Given the description of an element on the screen output the (x, y) to click on. 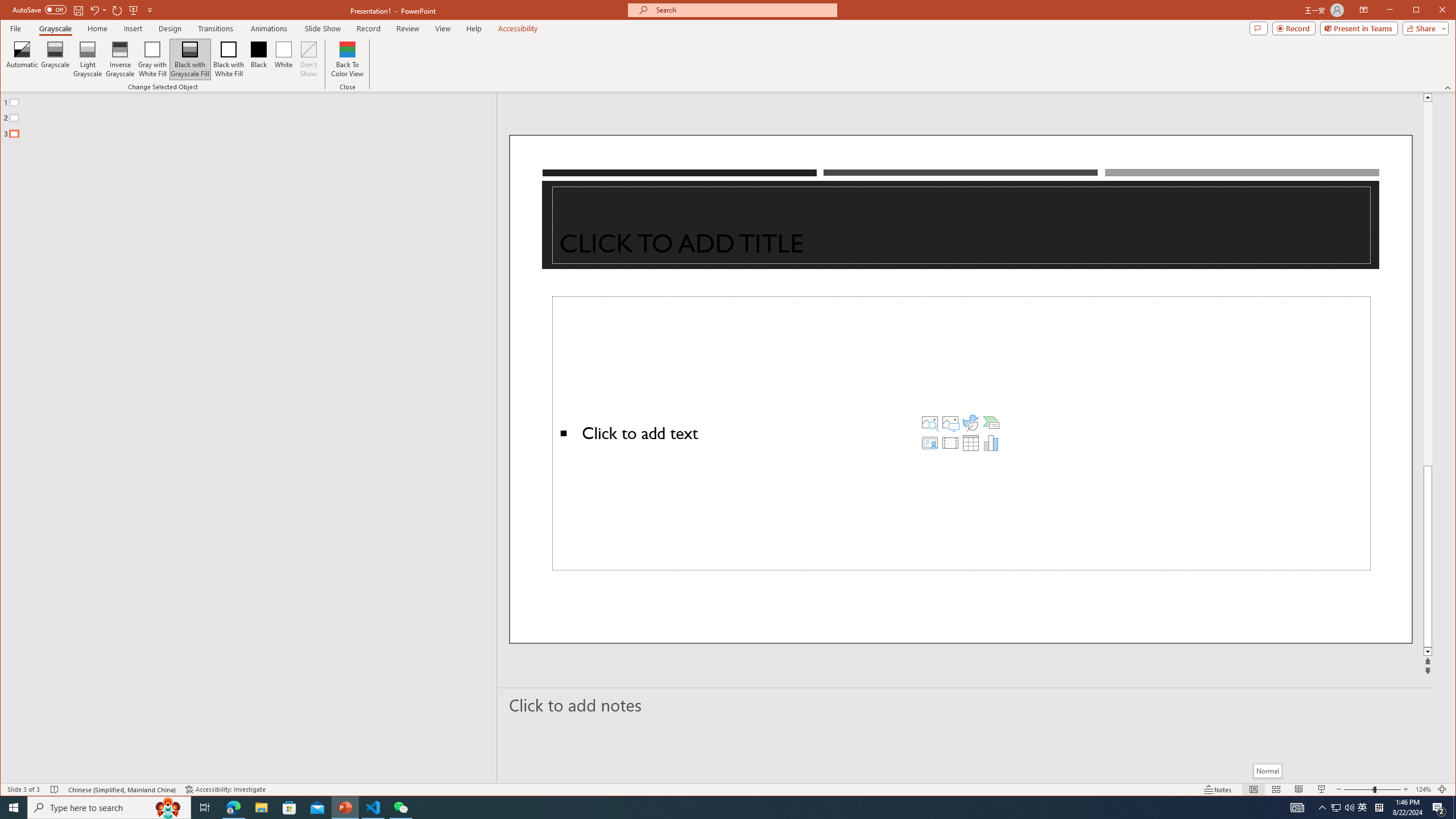
Insert an Icon (970, 422)
Black (258, 59)
Maximize (1432, 11)
Back To Color View (347, 59)
Don't Show (308, 59)
